Given the description of an element on the screen output the (x, y) to click on. 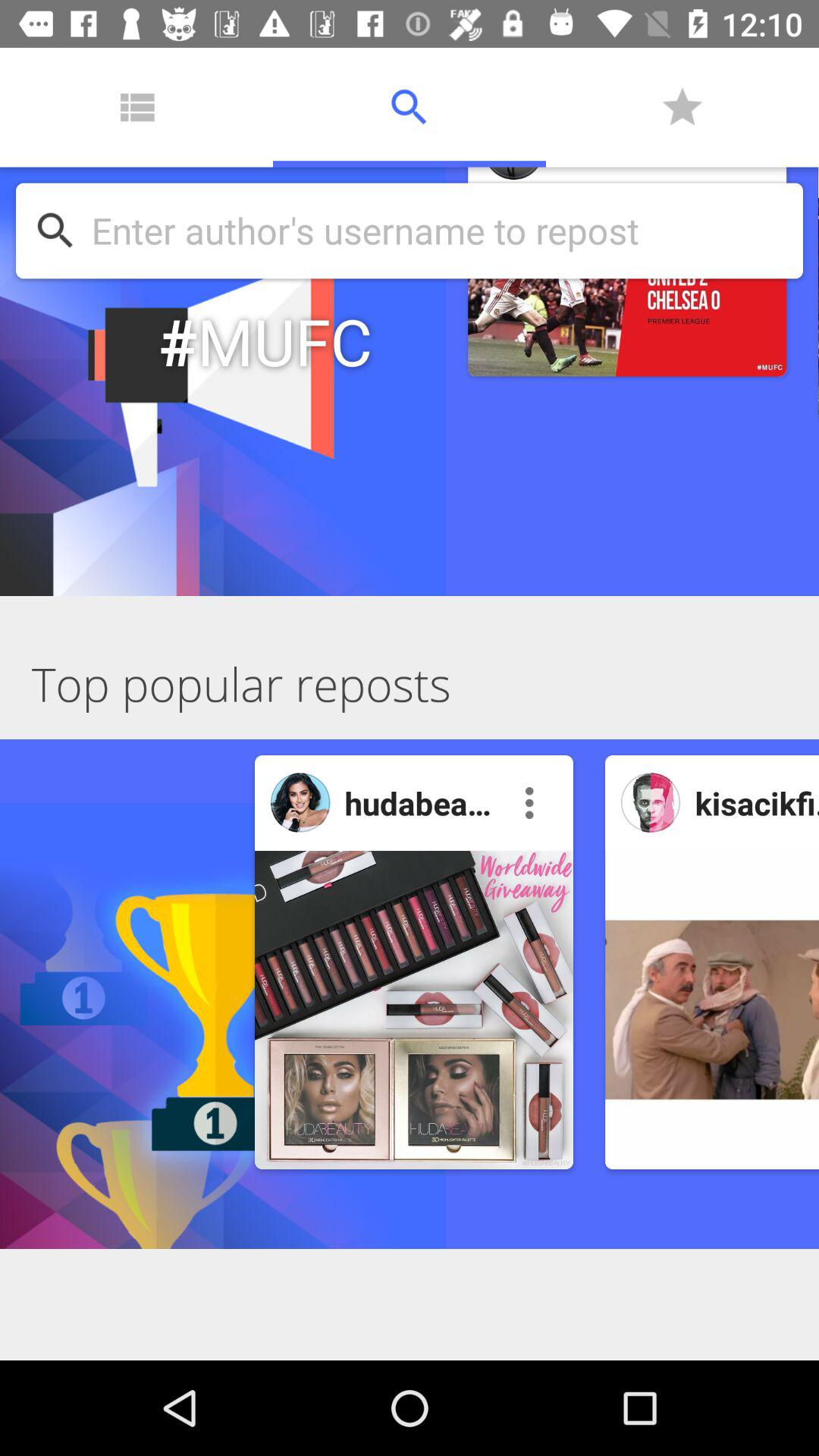
popular photo (650, 802)
